Given the description of an element on the screen output the (x, y) to click on. 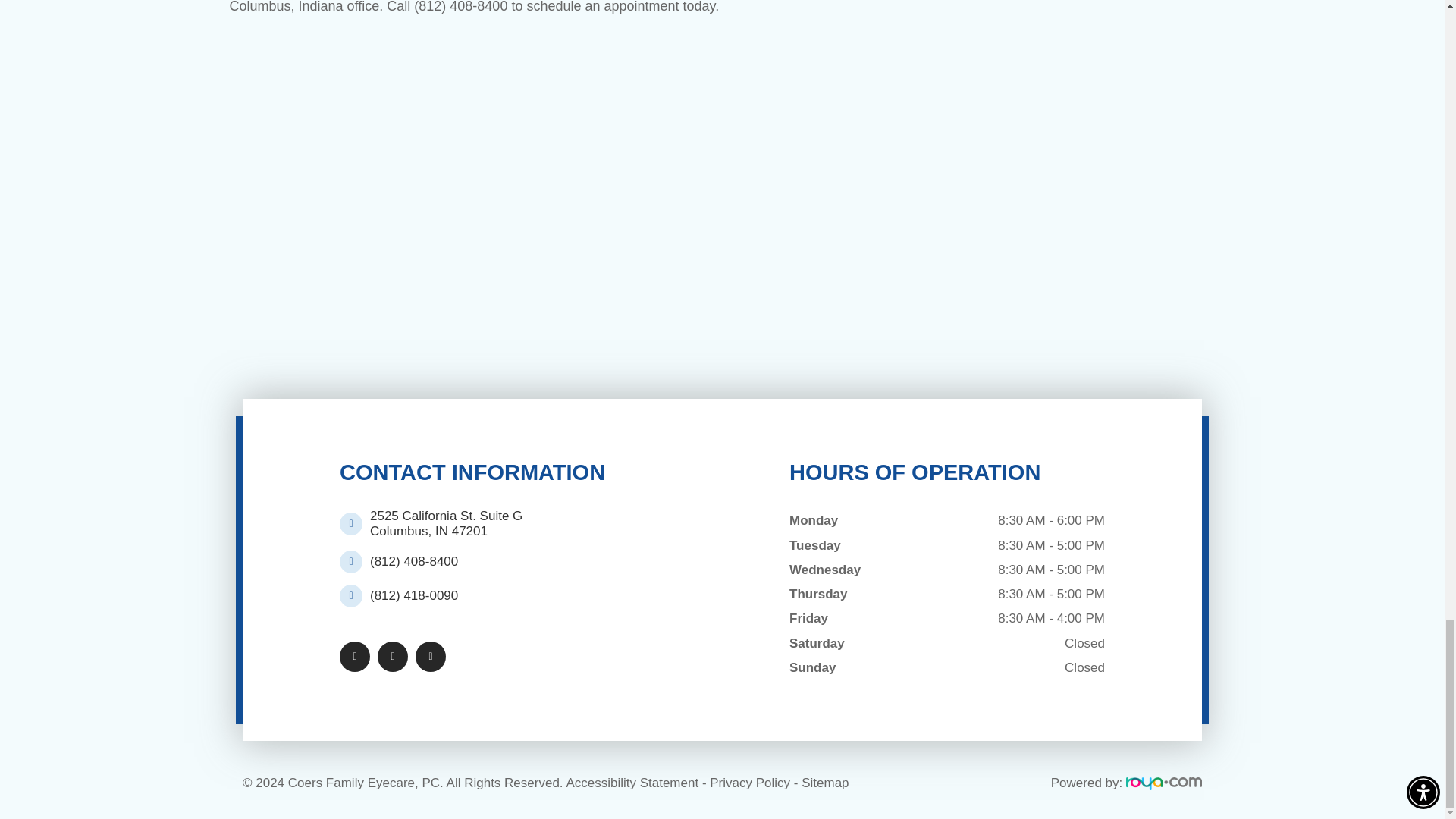
Roya (1163, 782)
